Given the description of an element on the screen output the (x, y) to click on. 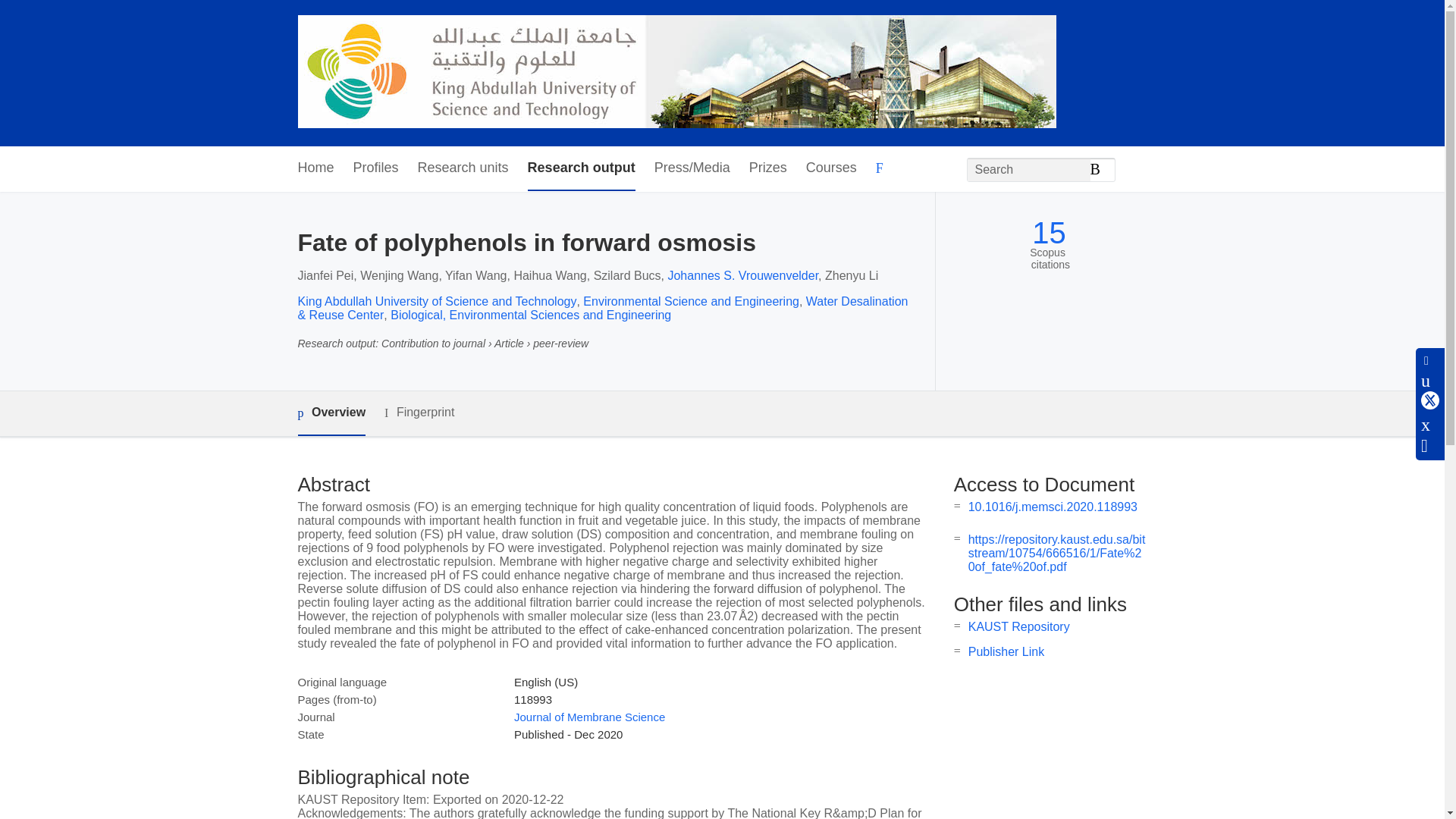
Fingerprint (419, 412)
Environmental Science and Engineering (691, 300)
KAUST PORTAL FOR RESEARCHERS AND STUDENTS Home (676, 73)
Research output (580, 168)
Johannes S. Vrouwenvelder (742, 275)
Biological, Environmental Sciences and Engineering (530, 314)
KAUST Repository (1019, 626)
15 (1048, 233)
Research units (462, 168)
Publisher Link (1006, 651)
Profiles (375, 168)
King Abdullah University of Science and Technology (436, 300)
Overview (331, 413)
Courses (831, 168)
